Given the description of an element on the screen output the (x, y) to click on. 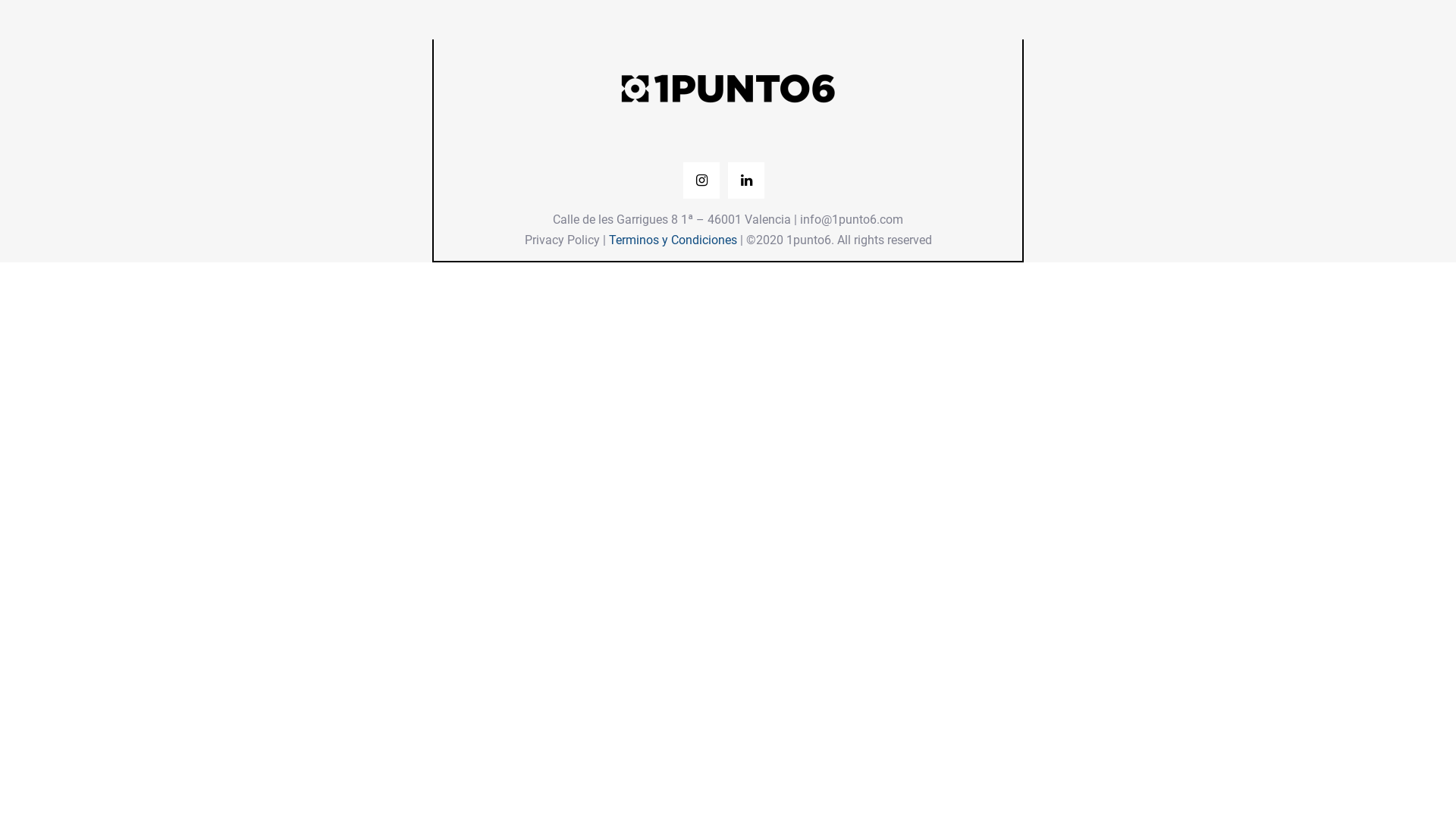
Terminos y Condiciones Element type: text (672, 239)
UnoPuntoSeis_large Element type: hover (727, 87)
